Given the description of an element on the screen output the (x, y) to click on. 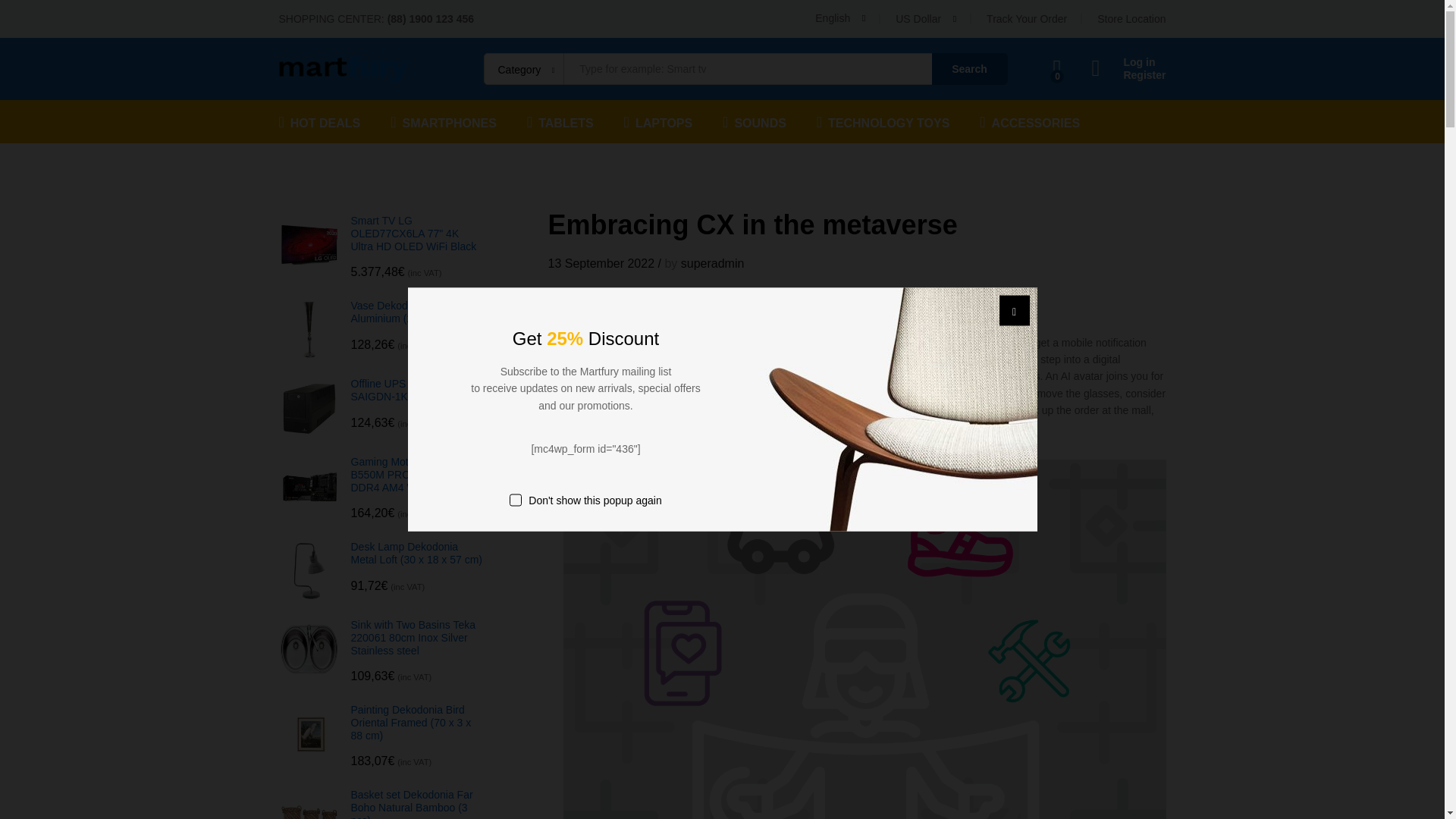
SOUNDS (754, 121)
English (839, 18)
HOT DEALS (320, 121)
Store Location (1131, 19)
SMARTPHONES (443, 121)
Register (1128, 74)
ACCESSORIES (1029, 121)
Search (969, 69)
TABLETS (560, 121)
Log in (1128, 62)
13 September 2022 (600, 263)
US Dollar (965, 61)
TECHNOLOGY TOYS (883, 121)
Track Your Order (1027, 19)
superadmin (712, 263)
